Given the description of an element on the screen output the (x, y) to click on. 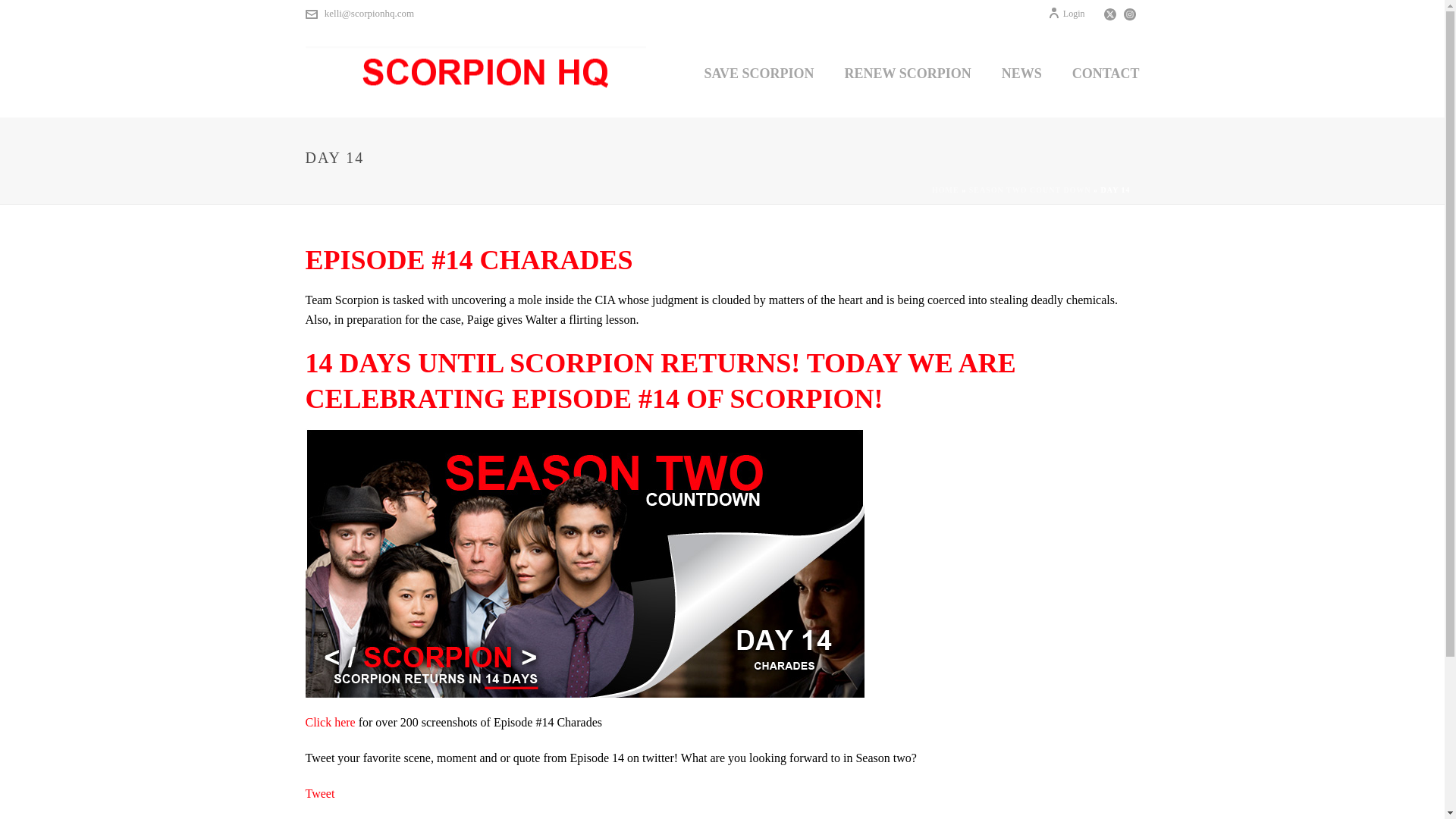
CONTACT (1105, 71)
Login (1066, 13)
Click here (329, 721)
RENEW SCORPION (908, 71)
Tweet (319, 793)
RENEW SCORPION (908, 71)
SEASON TWO COUNT DOWN (1029, 189)
A Community for Fans (474, 71)
SAVE SCORPION (758, 71)
SAVE SCORPION (758, 71)
CONTACT (1105, 71)
NEWS (1022, 71)
HOME (945, 189)
NEWS (1022, 71)
